Given the description of an element on the screen output the (x, y) to click on. 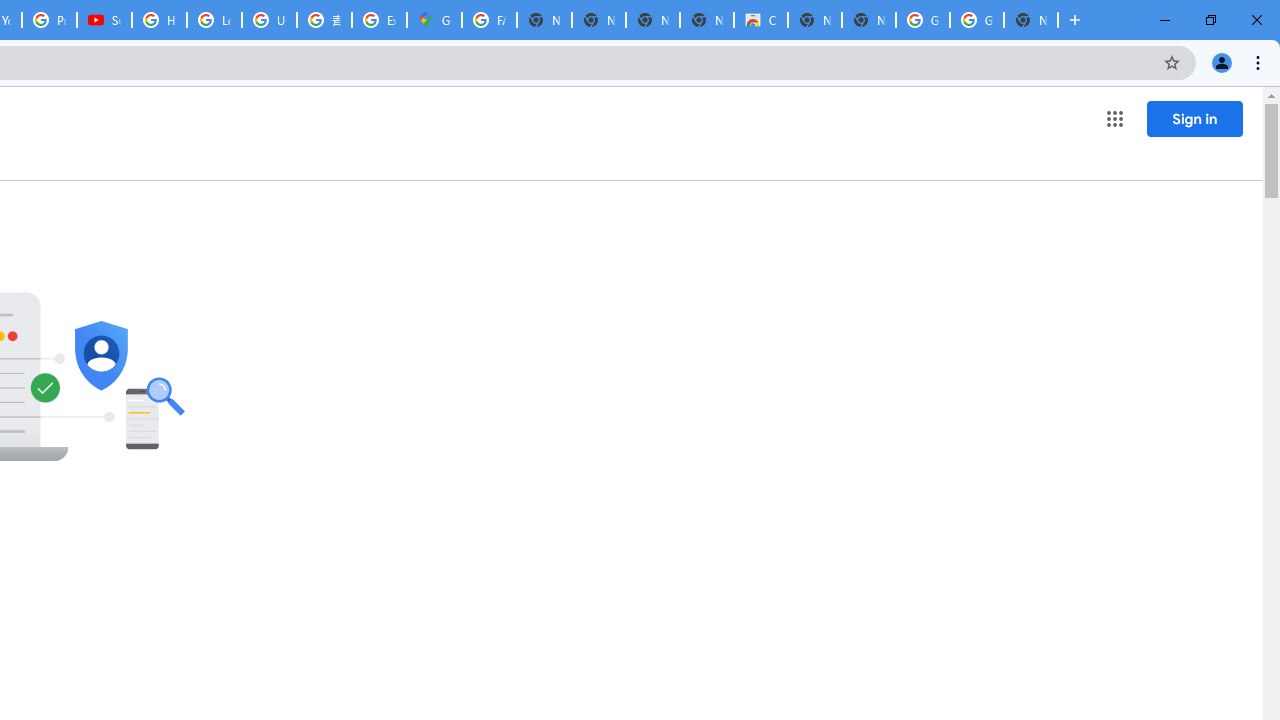
How Chrome protects your passwords - Google Chrome Help (158, 20)
New Tab (1030, 20)
